Given the description of an element on the screen output the (x, y) to click on. 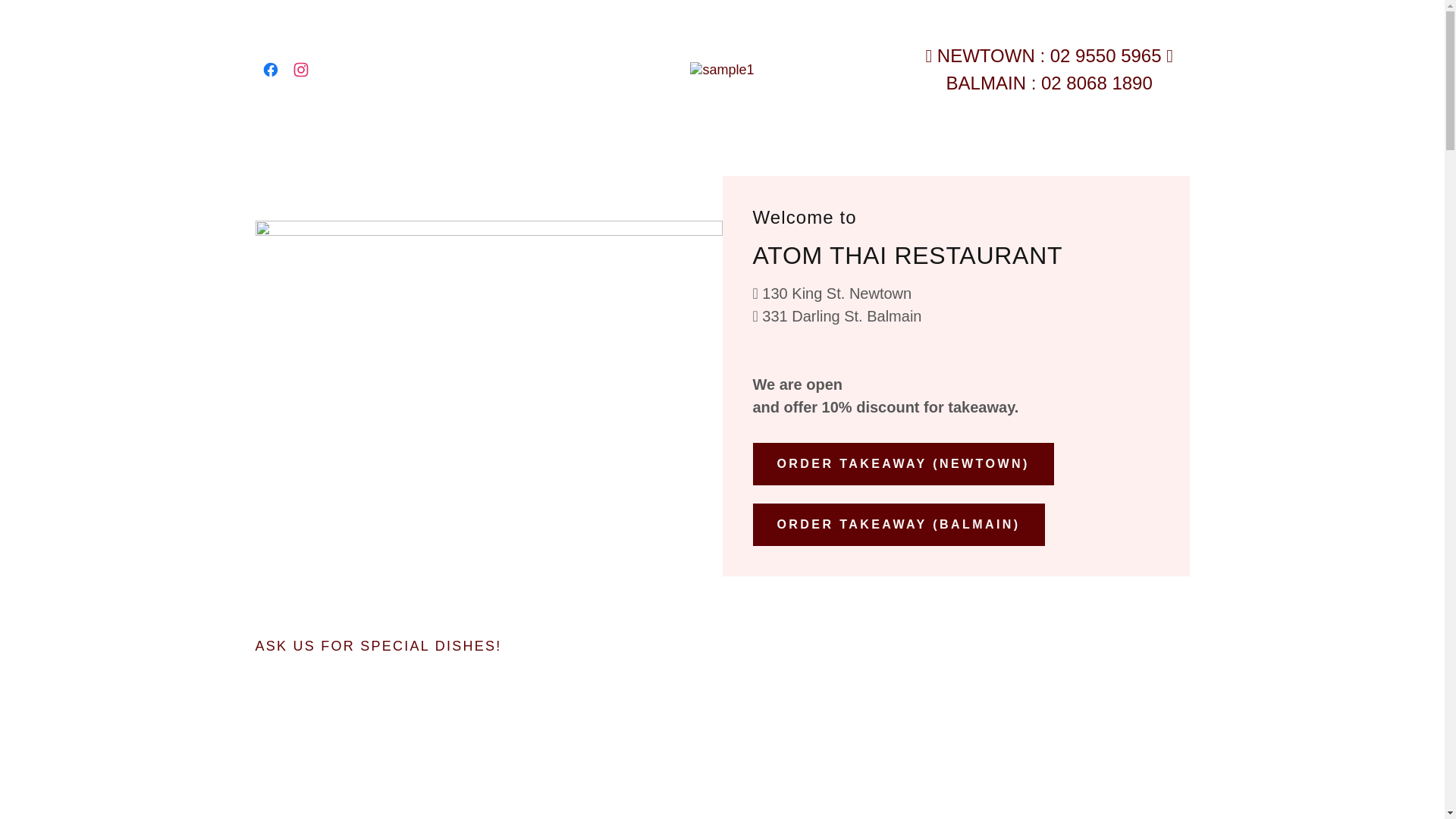
02 8068 1890 (1097, 82)
sample1 (722, 68)
02 9550 5965 (1105, 55)
